Given the description of an element on the screen output the (x, y) to click on. 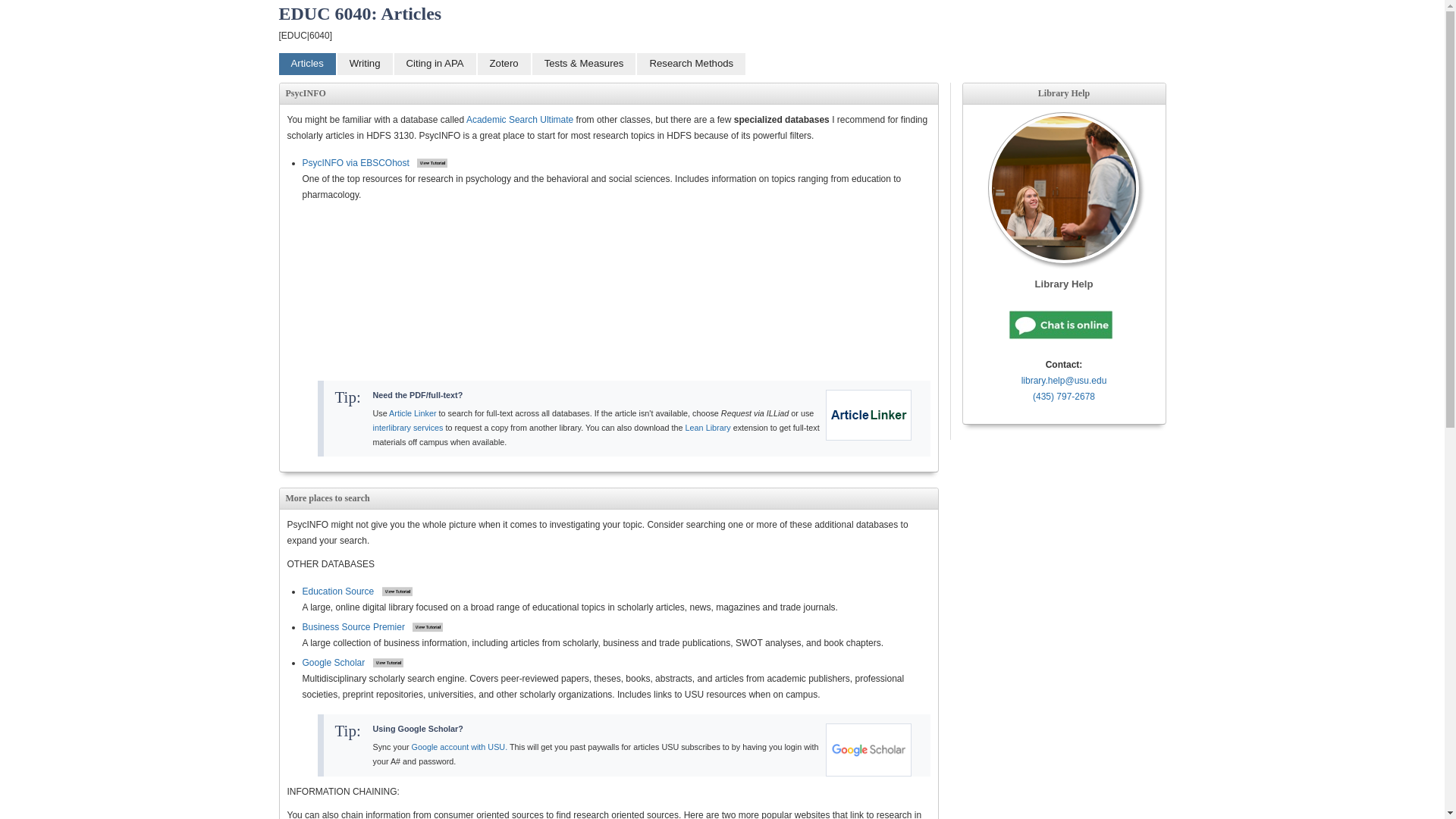
PsycINFO via EBSCOhost (355, 163)
Writing (365, 64)
Google Scholar (333, 662)
Business Source Premier (352, 626)
Education Source (337, 591)
Article Linker (411, 412)
Academic Search Ultimate  (520, 119)
Articles (307, 64)
Citing in APA (435, 64)
Google account with USU. (460, 746)
interlibrary services (408, 427)
